Given the description of an element on the screen output the (x, y) to click on. 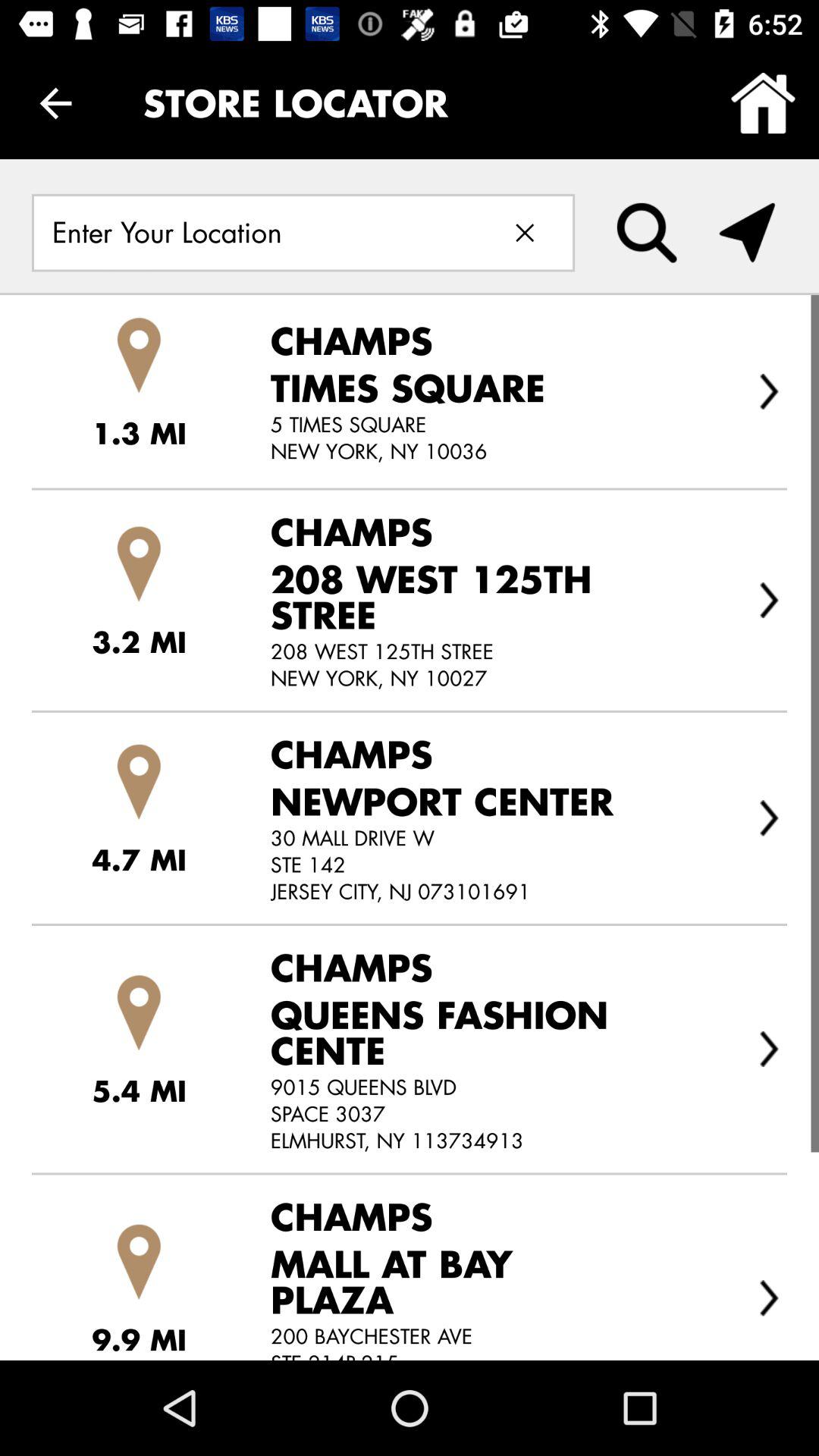
open the item below store locator icon (646, 232)
